Given the description of an element on the screen output the (x, y) to click on. 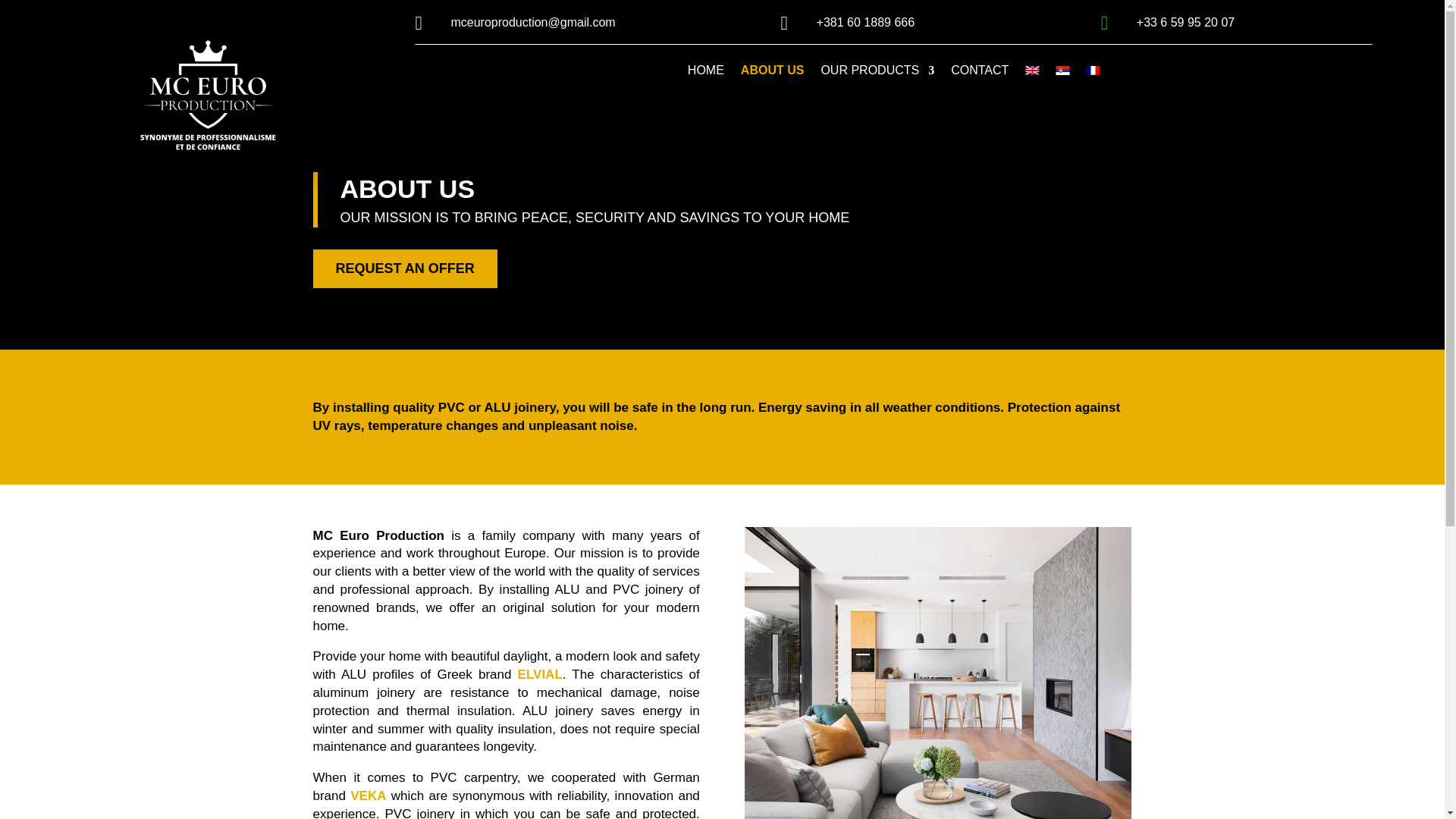
mc-euro-fr (207, 96)
HOME (705, 73)
landing-page-living-room-01-062866e9 (937, 673)
OUR PRODUCTS (877, 73)
ABOUT US (773, 73)
VEKA (367, 795)
REQUEST AN OFFER (404, 268)
CONTACT (979, 73)
